Given the description of an element on the screen output the (x, y) to click on. 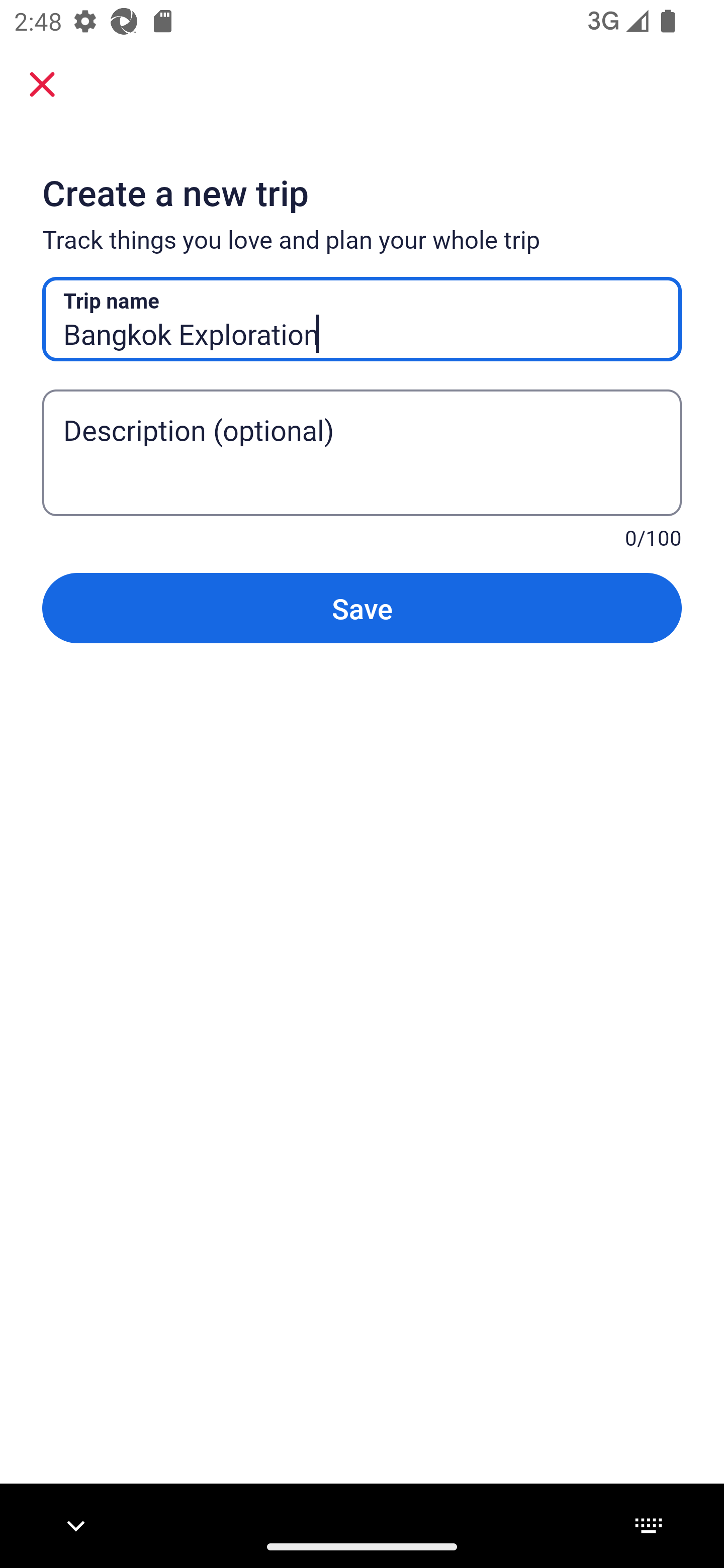
Close (41, 83)
Bangkok Exploration Trip name Trip name (361, 318)
Save Button Save (361, 607)
